Given the description of an element on the screen output the (x, y) to click on. 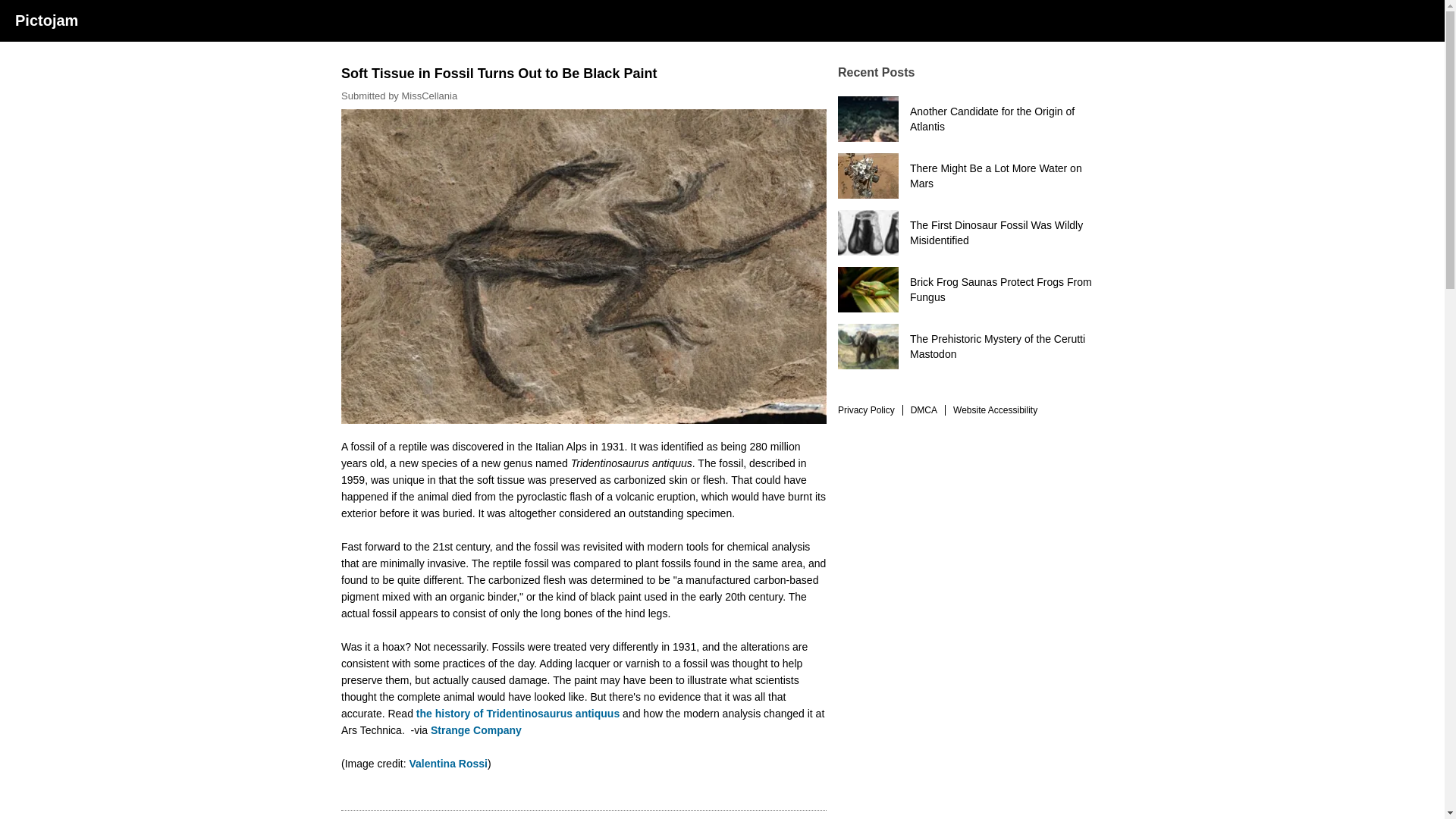
Privacy Policy (866, 409)
Strange Company  (477, 730)
Pictojam (46, 20)
DMCA (919, 409)
The First Dinosaur Fossil Was Wildly Misidentified (970, 232)
There Might Be a Lot More Water on Mars (970, 176)
the history of Tridentinosaurus antiquus (519, 713)
The Prehistoric Mystery of the Cerutti Mastodon (970, 346)
Valentina Rossi (447, 763)
Brick Frog Saunas Protect Frogs From Fungus (970, 289)
